Given the description of an element on the screen output the (x, y) to click on. 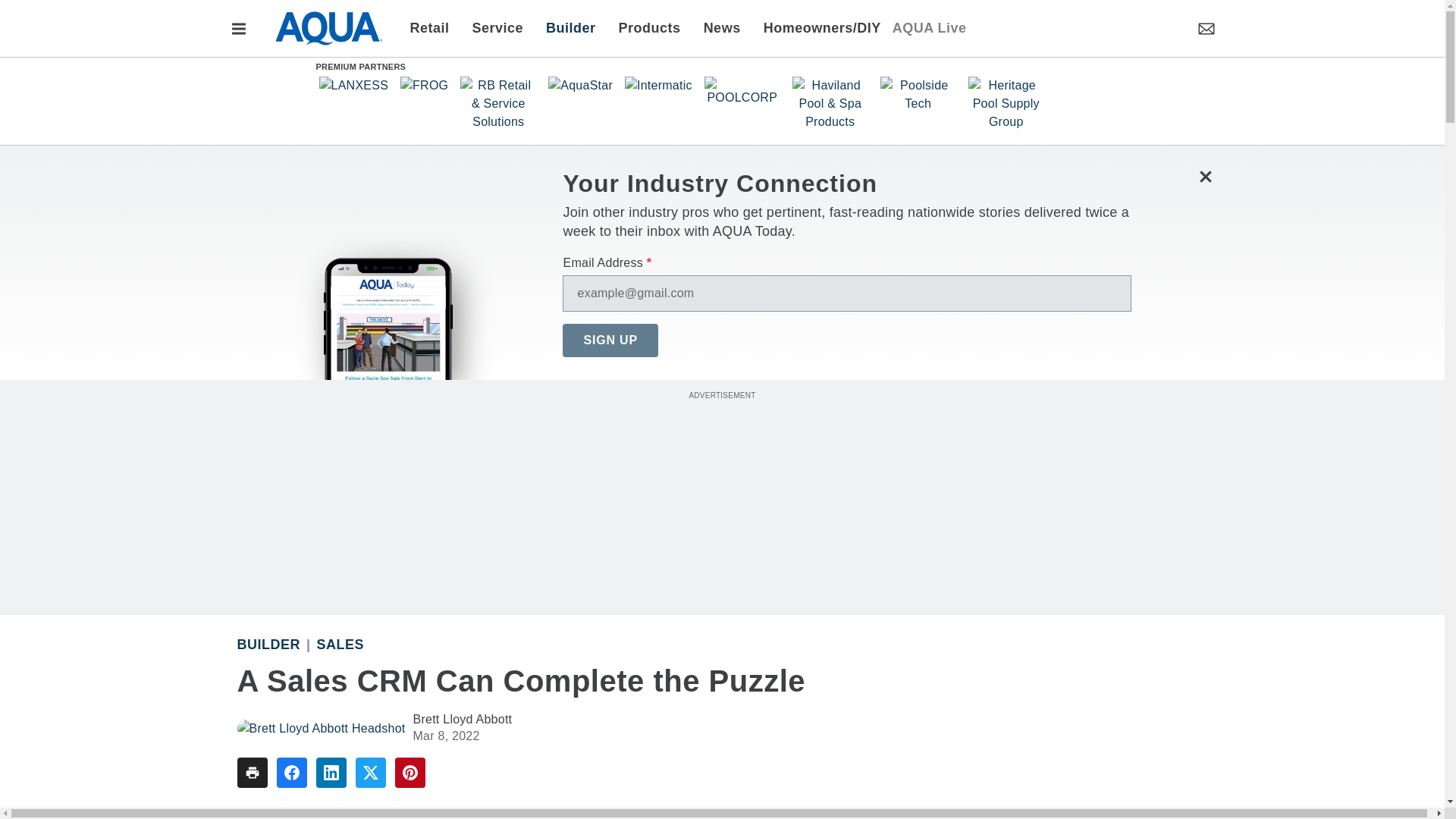
News (722, 27)
LANXESS (353, 85)
Builder (570, 27)
AQUA Live (929, 27)
Retail (434, 27)
Products (650, 27)
FROG (424, 85)
Service (498, 27)
